Given the description of an element on the screen output the (x, y) to click on. 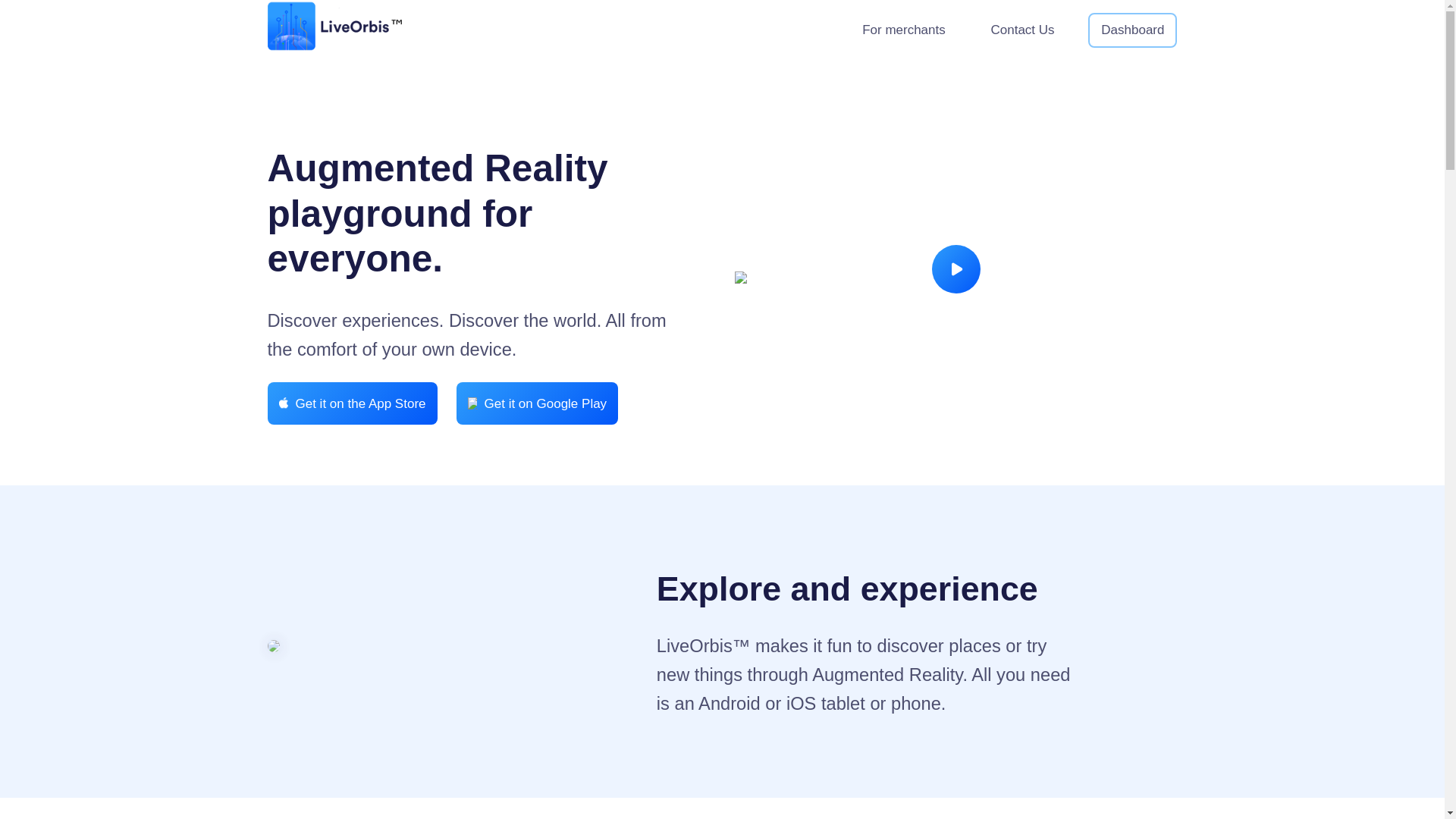
Contact Us Element type: text (1022, 29)
For merchants Element type: text (903, 29)
Get it on Google Play Element type: text (537, 403)
Get it on the App Store Element type: text (351, 403)
Dashboard Element type: text (1132, 29)
